Given the description of an element on the screen output the (x, y) to click on. 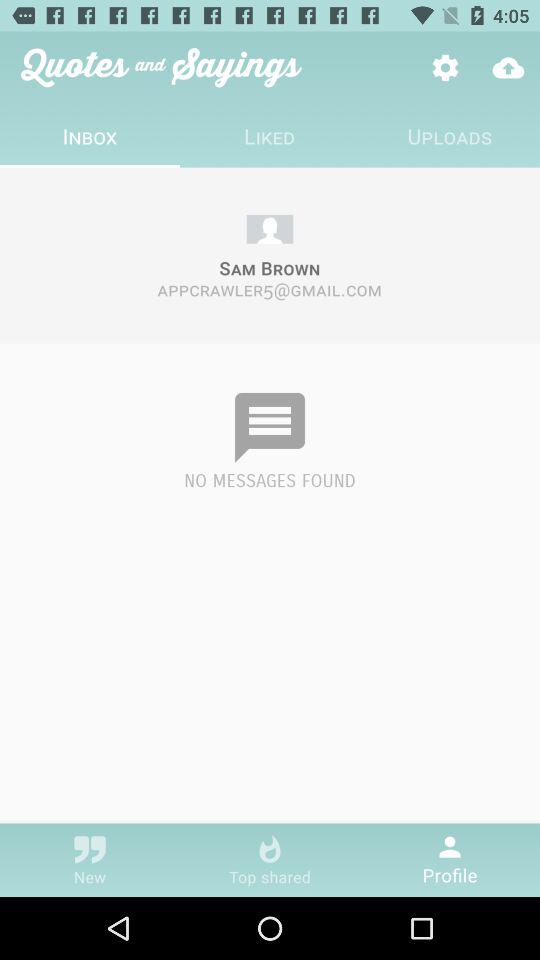
select icon above the uploads item (444, 67)
